Given the description of an element on the screen output the (x, y) to click on. 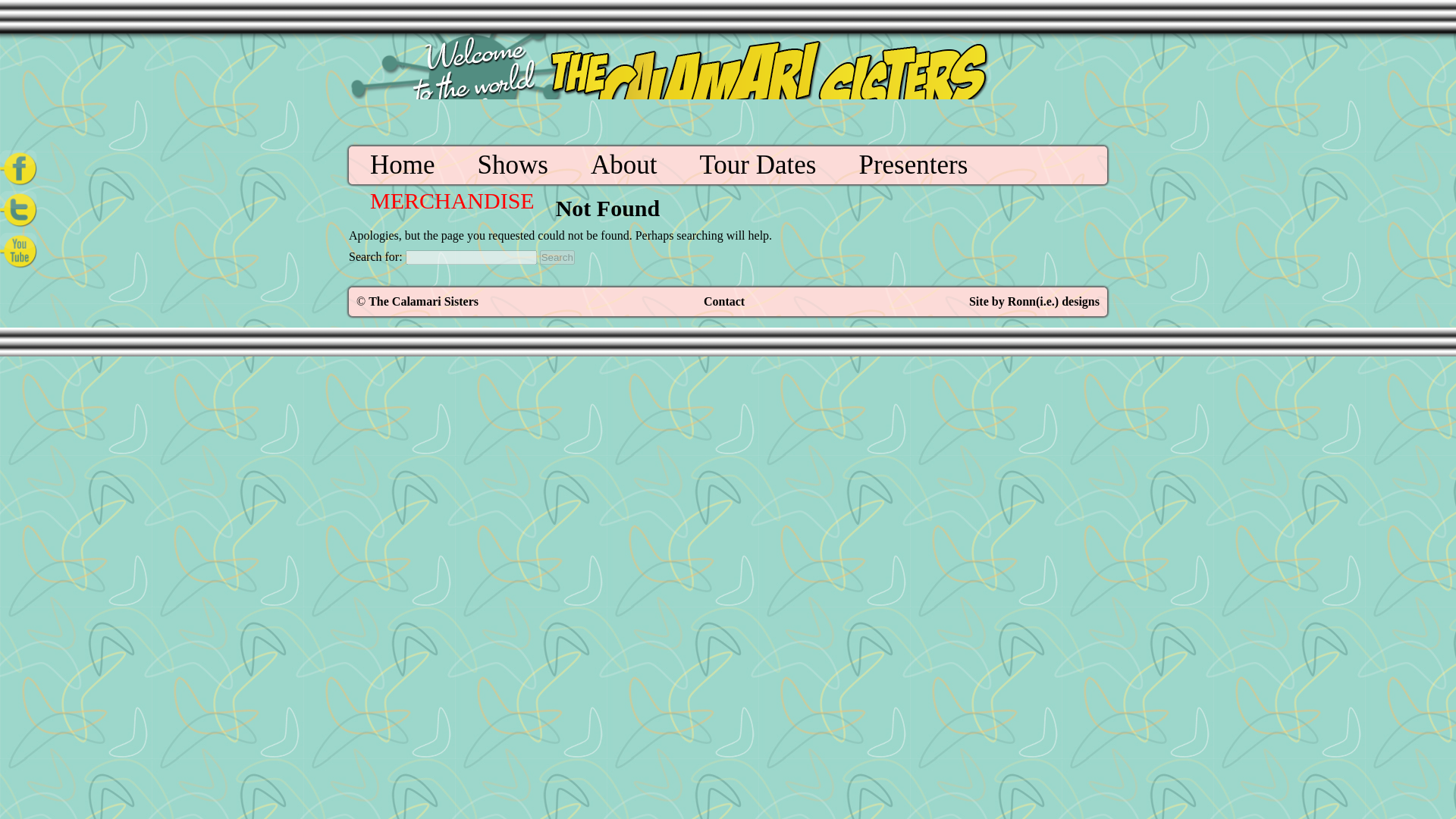
Home (402, 164)
MERCHANDISE (451, 200)
Search (557, 257)
The Calamari Sisters (423, 300)
Shows (513, 164)
About (624, 164)
Presenters (913, 164)
Contact (723, 300)
The Calamari Sisters (423, 300)
Tour Dates (756, 164)
